Given the description of an element on the screen output the (x, y) to click on. 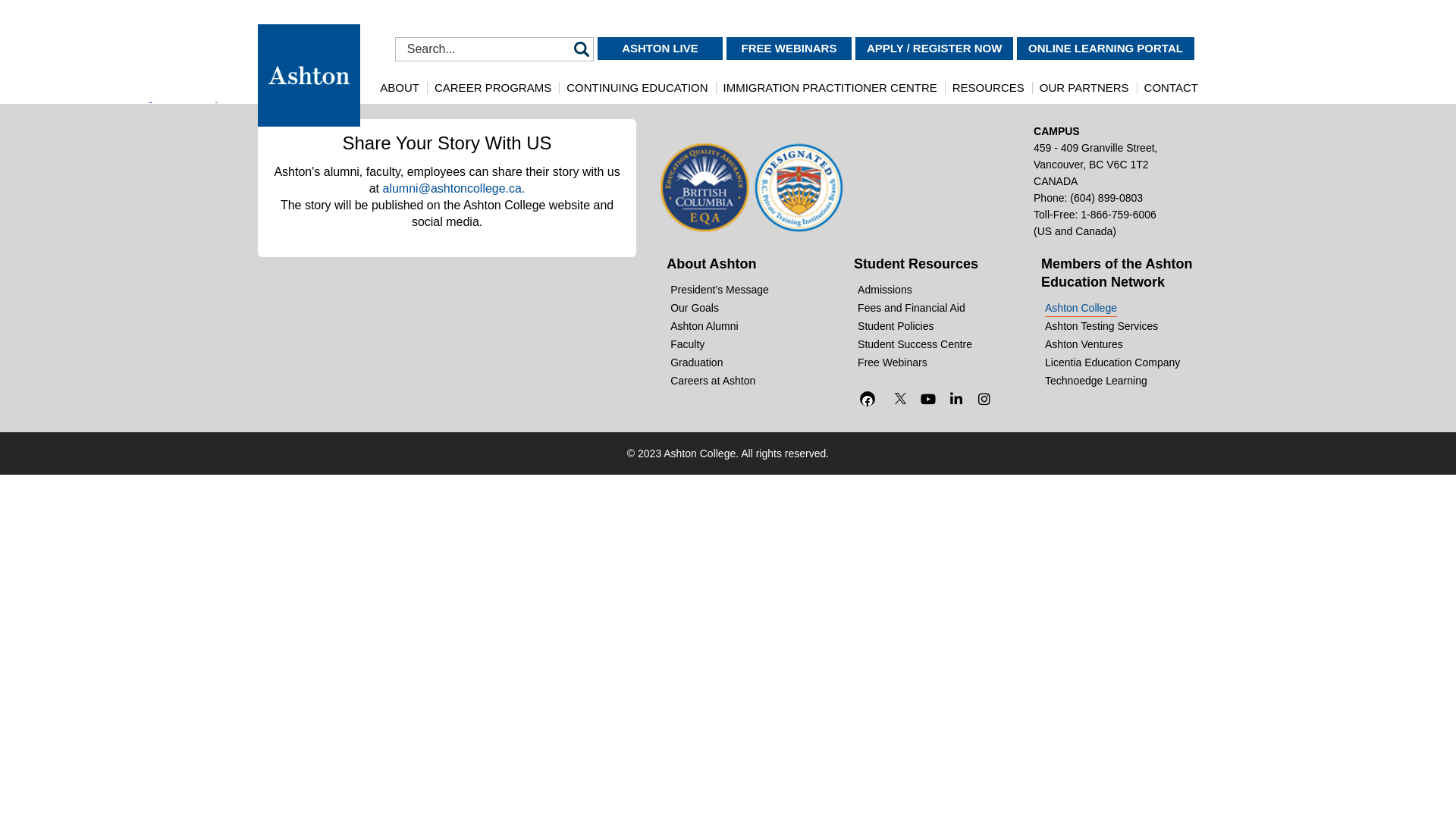
CONTINUING EDUCATION Element type: text (636, 87)
Our Goals Element type: text (688, 307)
Ashton Alumni Element type: text (698, 325)
CAREER PROGRAMS Element type: text (492, 87)
1-866-759-6006 Element type: text (1118, 214)
Fees and Financial Aid Element type: text (905, 307)
Admissions Element type: text (879, 289)
IMMIGRATION PRACTITIONER CENTRE Element type: text (830, 87)
Ashton College Element type: text (1075, 307)
Licentia Education Company Element type: text (1106, 362)
Student Policies Element type: text (889, 325)
Faculty Element type: text (681, 344)
ABOUT Element type: text (399, 87)
(604) 899-0803 Element type: text (1106, 197)
APPLY / REGISTER NOW Element type: text (934, 47)
CONTACT Element type: text (1171, 87)
ASHTON LIVE Element type: text (659, 47)
OUR PARTNERS Element type: text (1084, 87)
Free Webinars Element type: text (886, 362)
Search Element type: text (581, 48)
Technoedge Learning Element type: text (1090, 380)
Graduation Element type: text (690, 362)
ONLINE LEARNING PORTAL Element type: text (1105, 47)
Careers at Ashton Element type: text (706, 380)
Student Success Centre Element type: text (909, 344)
Ashton Education Network Element type: text (1116, 272)
alumni@ashtoncollege.ca. Element type: text (453, 188)
Ashton Ventures Element type: text (1078, 344)
FREE WEBINARS Element type: text (788, 47)
log in Element type: text (151, 97)
Ashton Testing Services Element type: text (1095, 325)
RESOURCES Element type: text (988, 87)
